Given the description of an element on the screen output the (x, y) to click on. 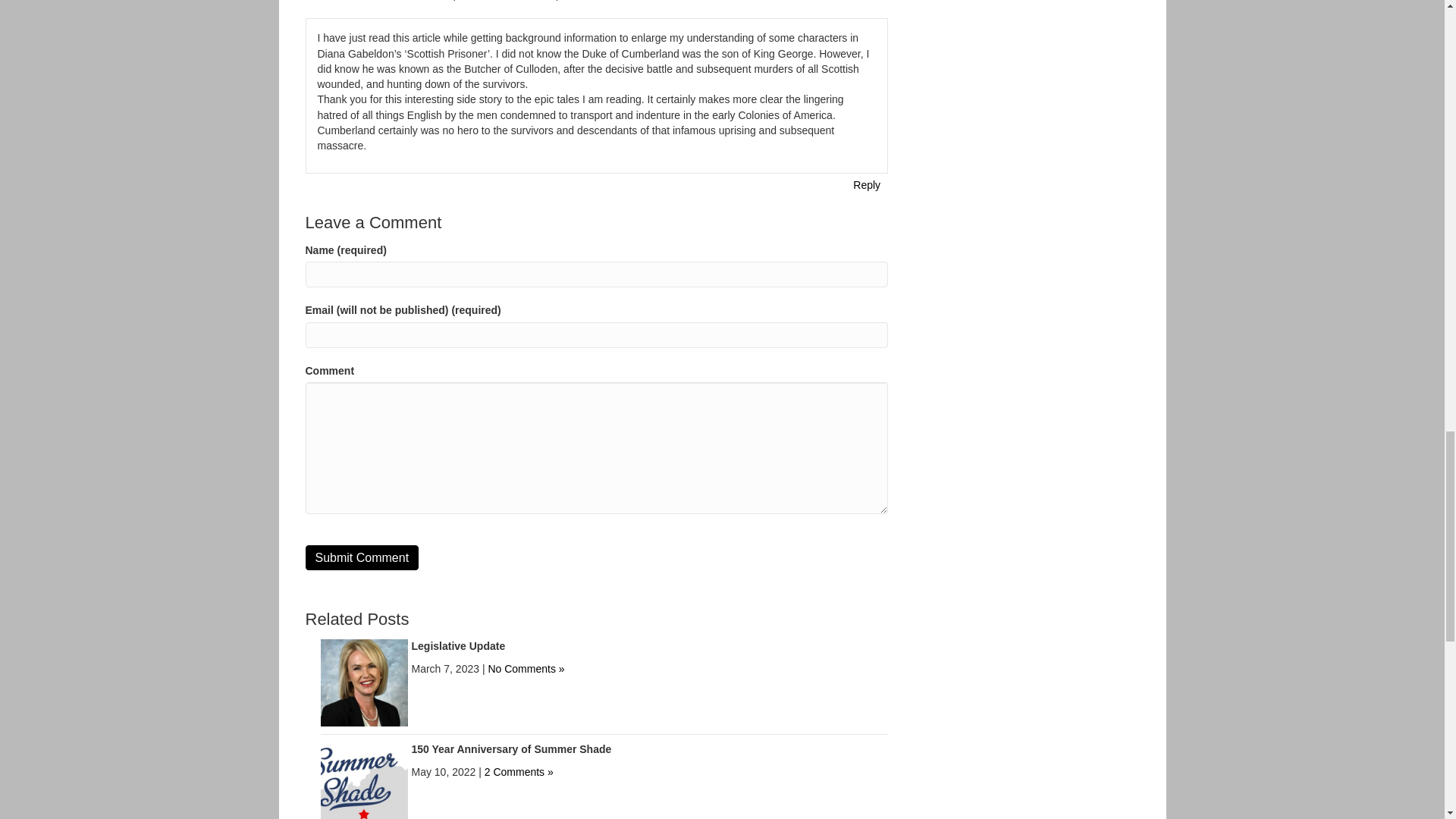
150 Year Anniversary of Summer Shade (510, 748)
Submit Comment (361, 557)
Legislative Update (457, 645)
Legislative Update (363, 681)
150 Year Anniversary of Summer Shade (363, 784)
